Given the description of an element on the screen output the (x, y) to click on. 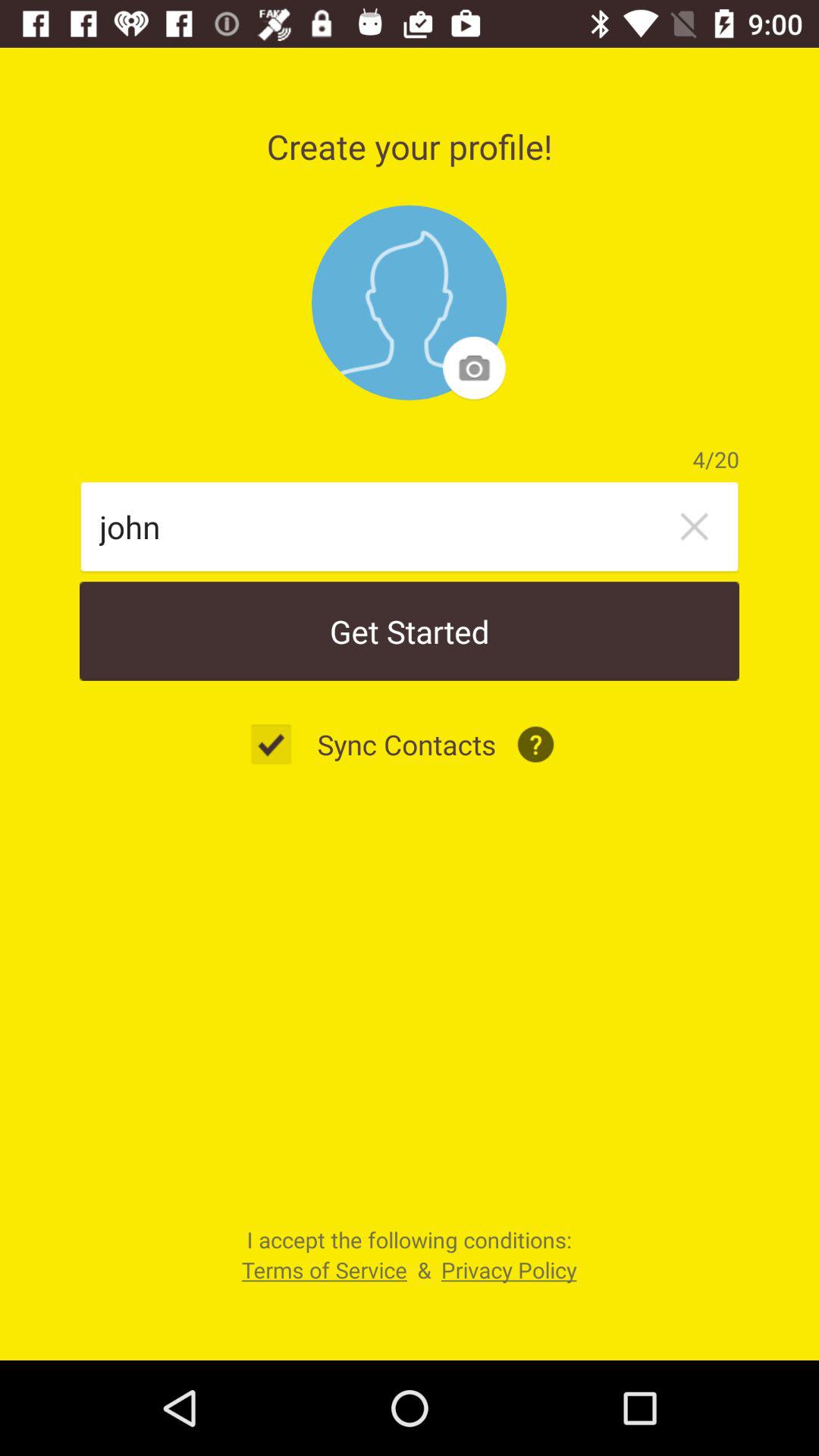
photo (408, 302)
